Given the description of an element on the screen output the (x, y) to click on. 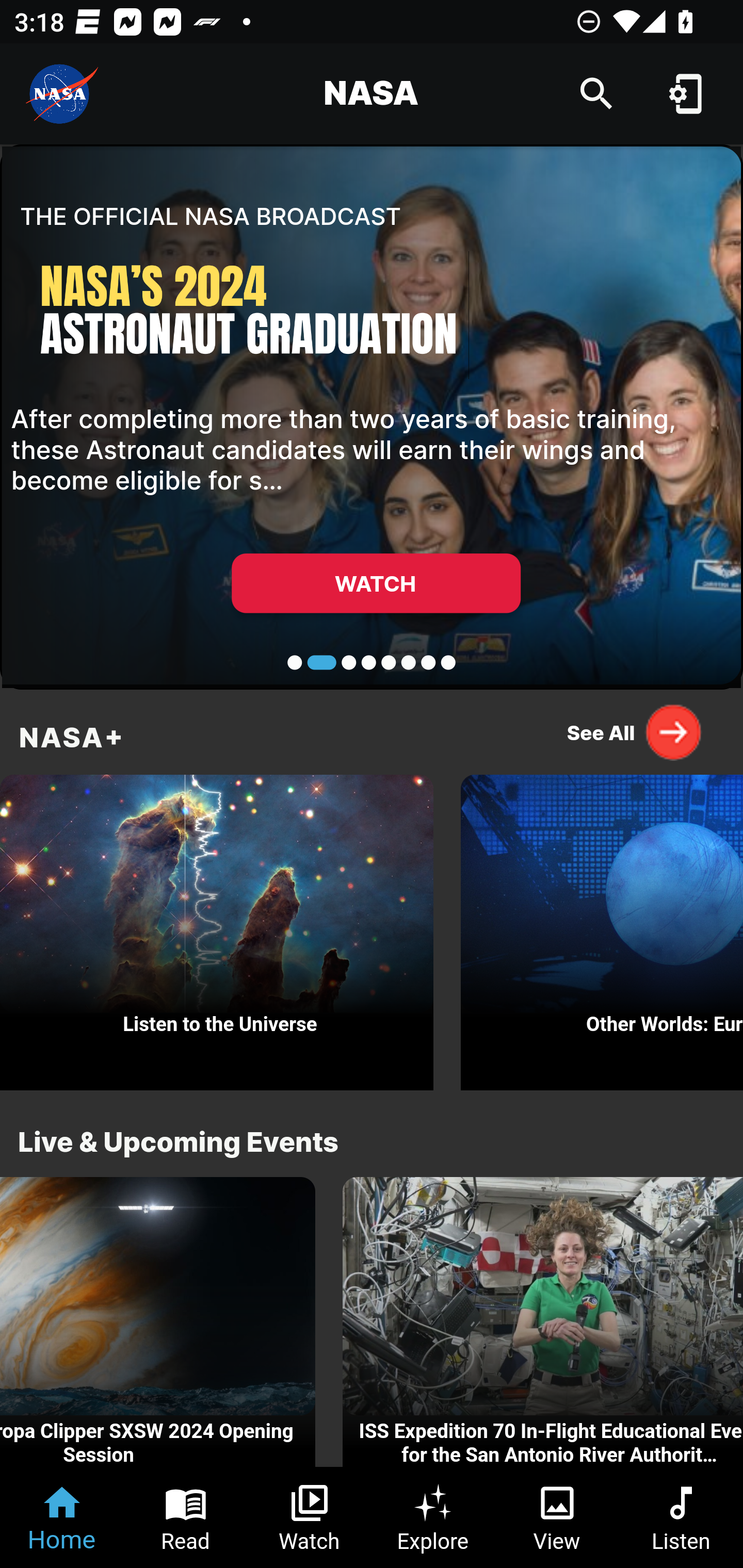
WATCH (375, 583)
See All (634, 732)
Listen to the Universe (216, 927)
Other Worlds: Europa (601, 927)
NASA's Europa Clipper SXSW 2024 Opening Session (157, 1322)
Home
Tab 1 of 6 (62, 1517)
Read
Tab 2 of 6 (185, 1517)
Watch
Tab 3 of 6 (309, 1517)
Explore
Tab 4 of 6 (433, 1517)
View
Tab 5 of 6 (556, 1517)
Listen
Tab 6 of 6 (680, 1517)
